Given the description of an element on the screen output the (x, y) to click on. 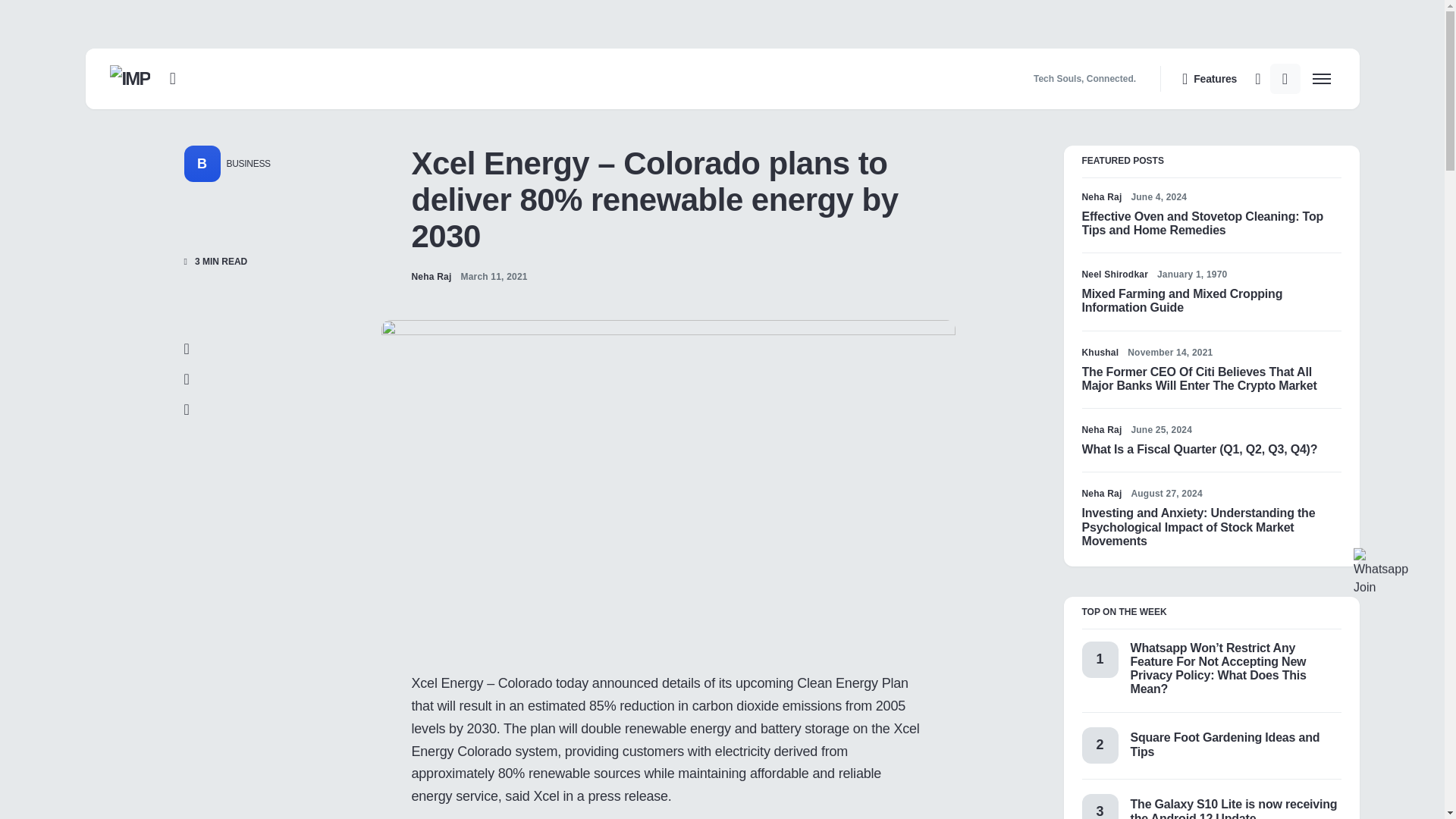
View all posts by Neha Raj (430, 276)
View all posts by Neha Raj (1101, 493)
View all posts by Khushal (1099, 352)
View all posts by Neha Raj (1101, 196)
View all posts by Neha Raj (1101, 429)
View all posts by Neel Shirodkar (1114, 274)
